Given the description of an element on the screen output the (x, y) to click on. 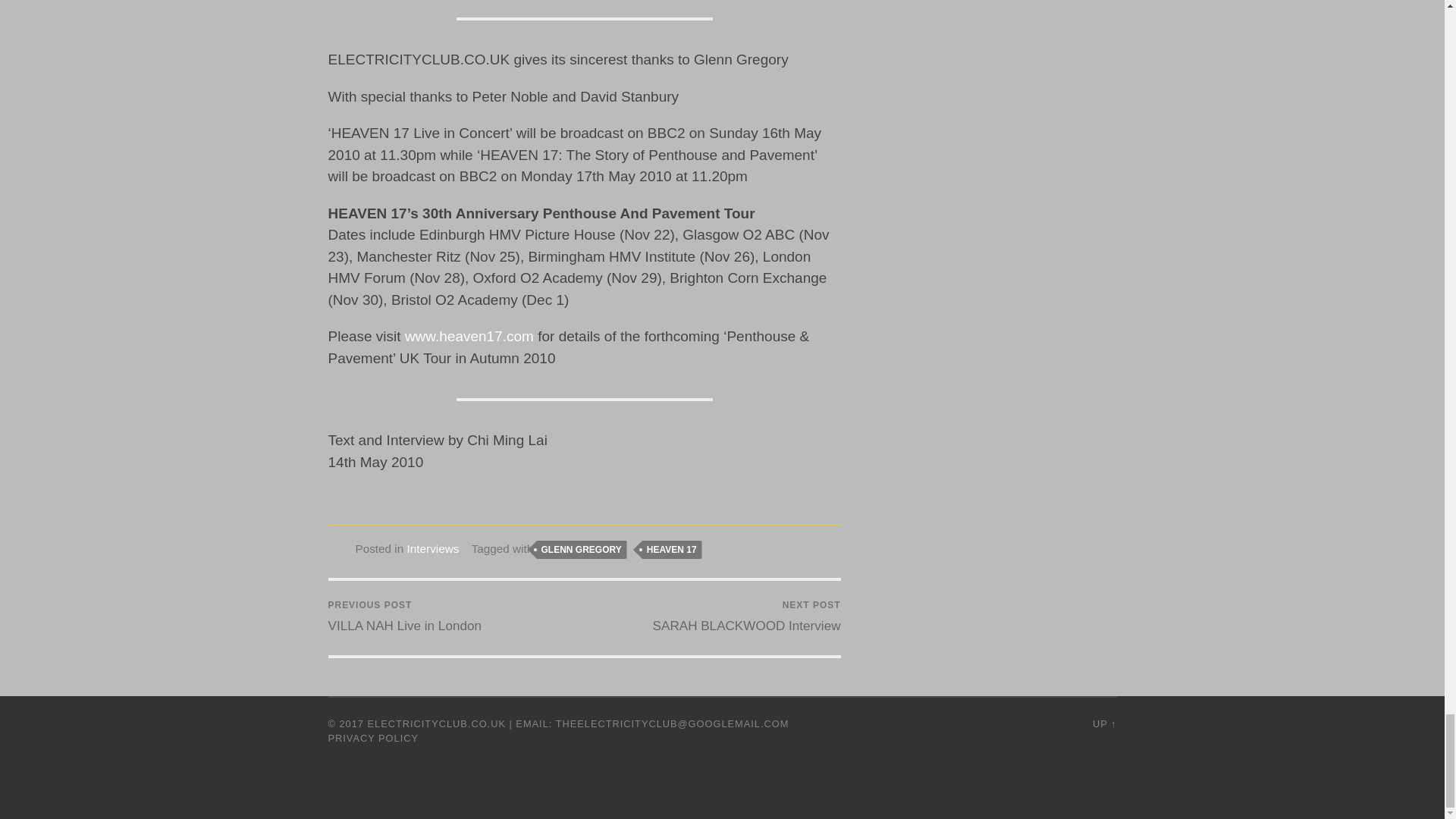
Next post: SARAH BLACKWOOD Interview (746, 617)
To the top (1104, 723)
ELECTRICITYCLUB.CO.UK (436, 723)
Previous post: VILLA NAH Live in London (403, 617)
